Given the description of an element on the screen output the (x, y) to click on. 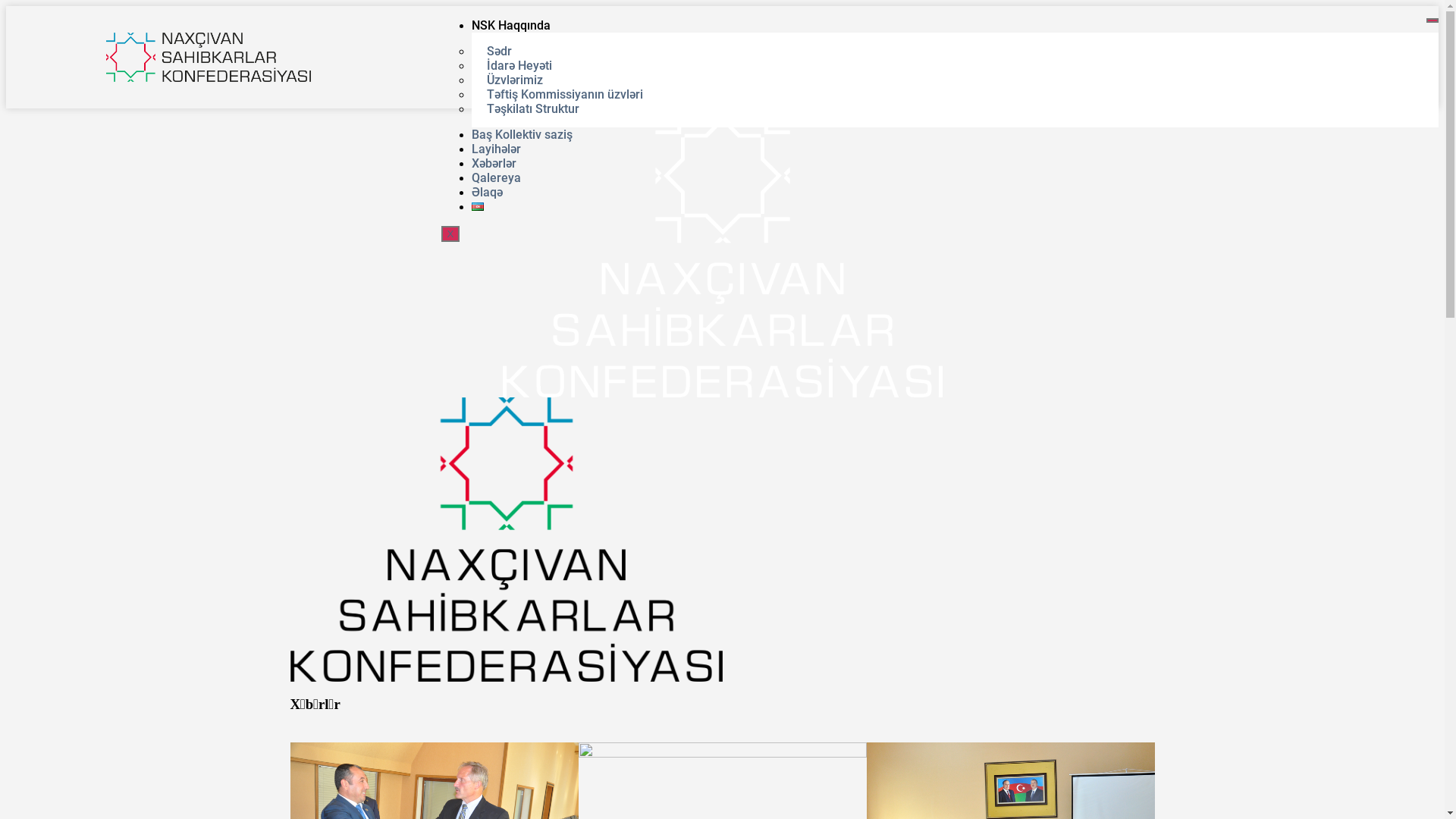
X Element type: text (450, 233)
Qalereya Element type: text (507, 177)
